Given the description of an element on the screen output the (x, y) to click on. 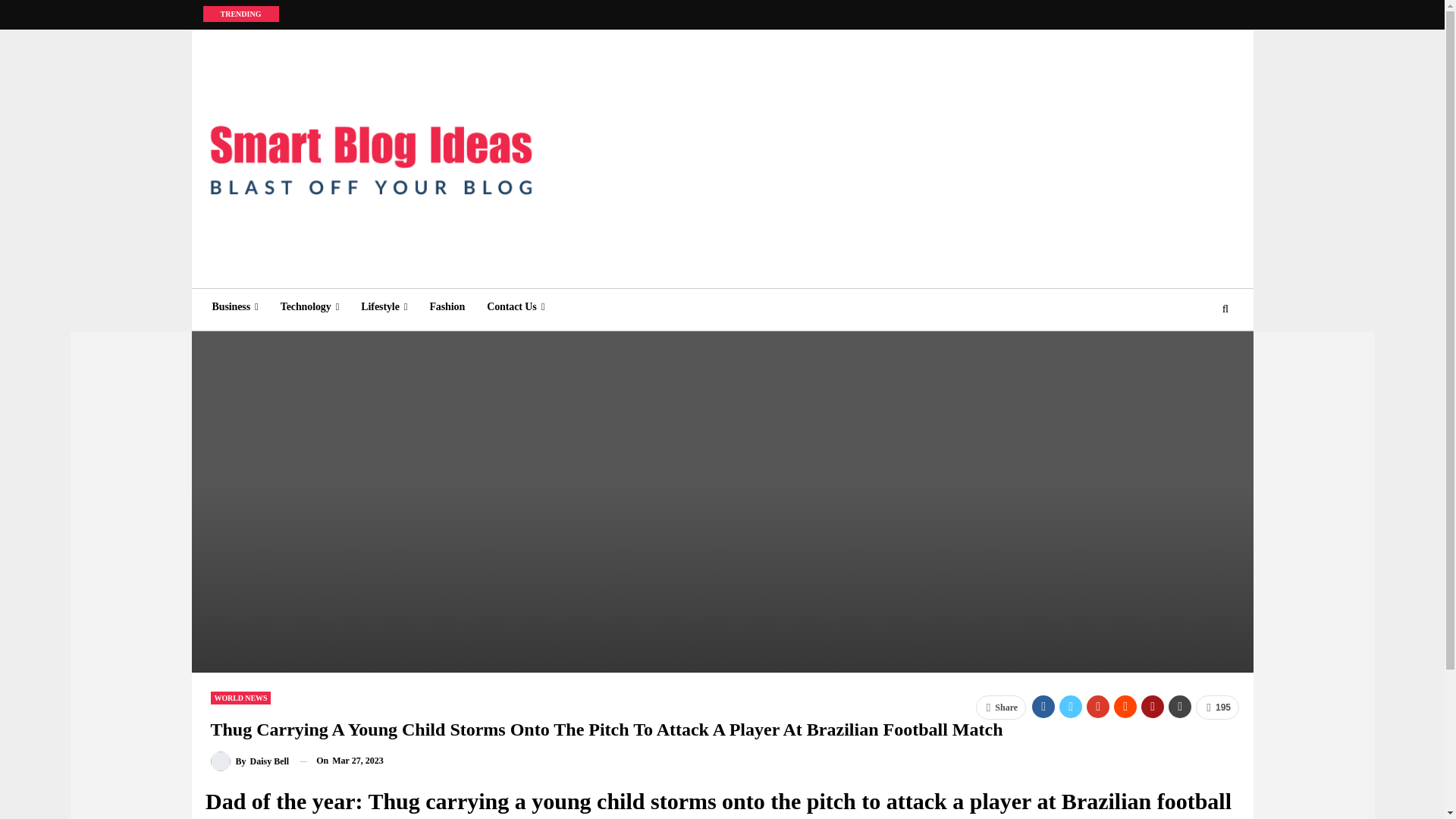
Technology (309, 307)
Contact Us (515, 307)
By Daisy Bell (250, 761)
Browse Author Articles (250, 761)
Fashion (447, 307)
Lifestyle (384, 307)
WORLD NEWS (240, 697)
Business (235, 307)
